Given the description of an element on the screen output the (x, y) to click on. 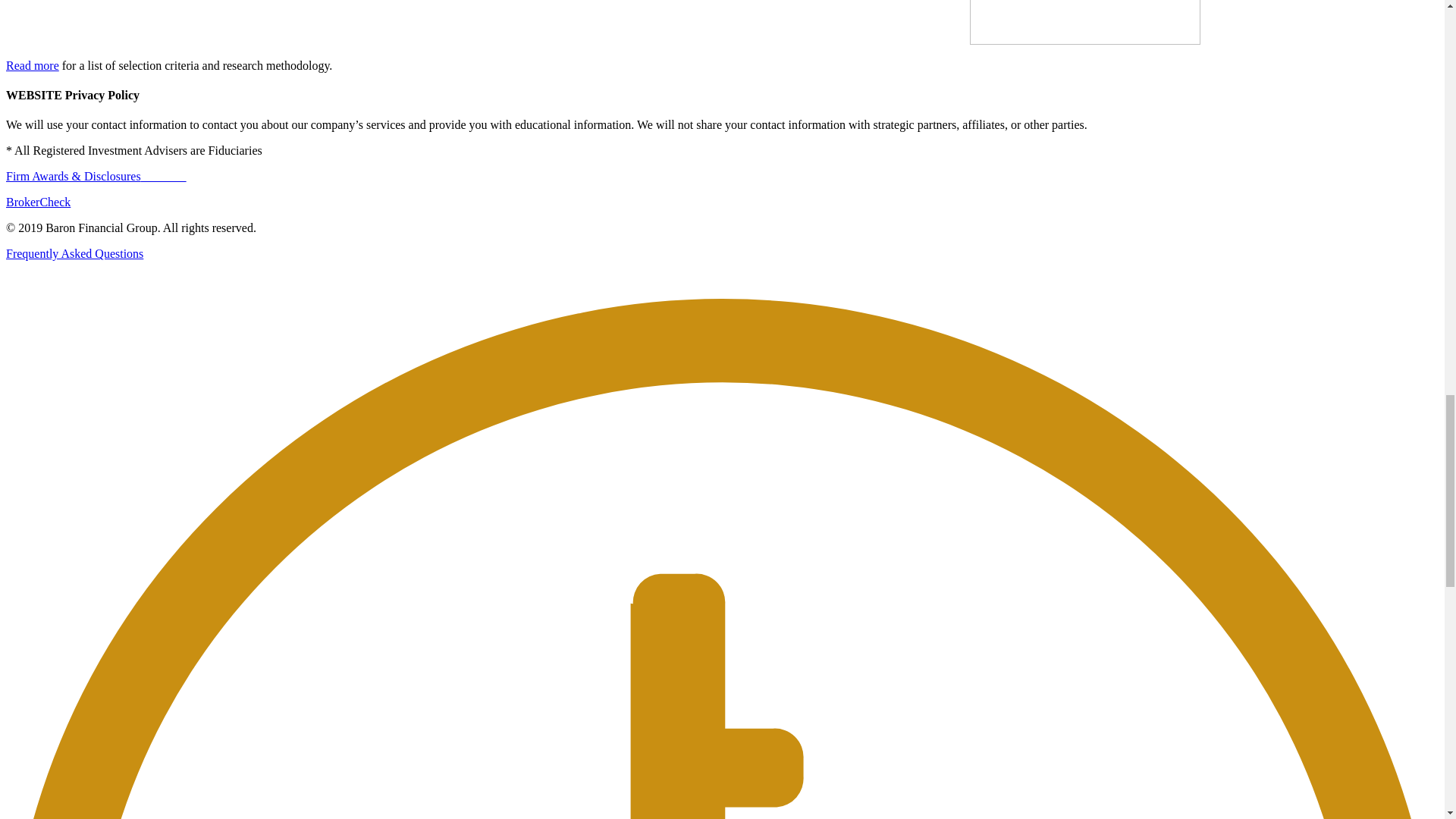
Read more (32, 65)
Frequently Asked Questions (73, 253)
BrokerCheck (37, 201)
